Given the description of an element on the screen output the (x, y) to click on. 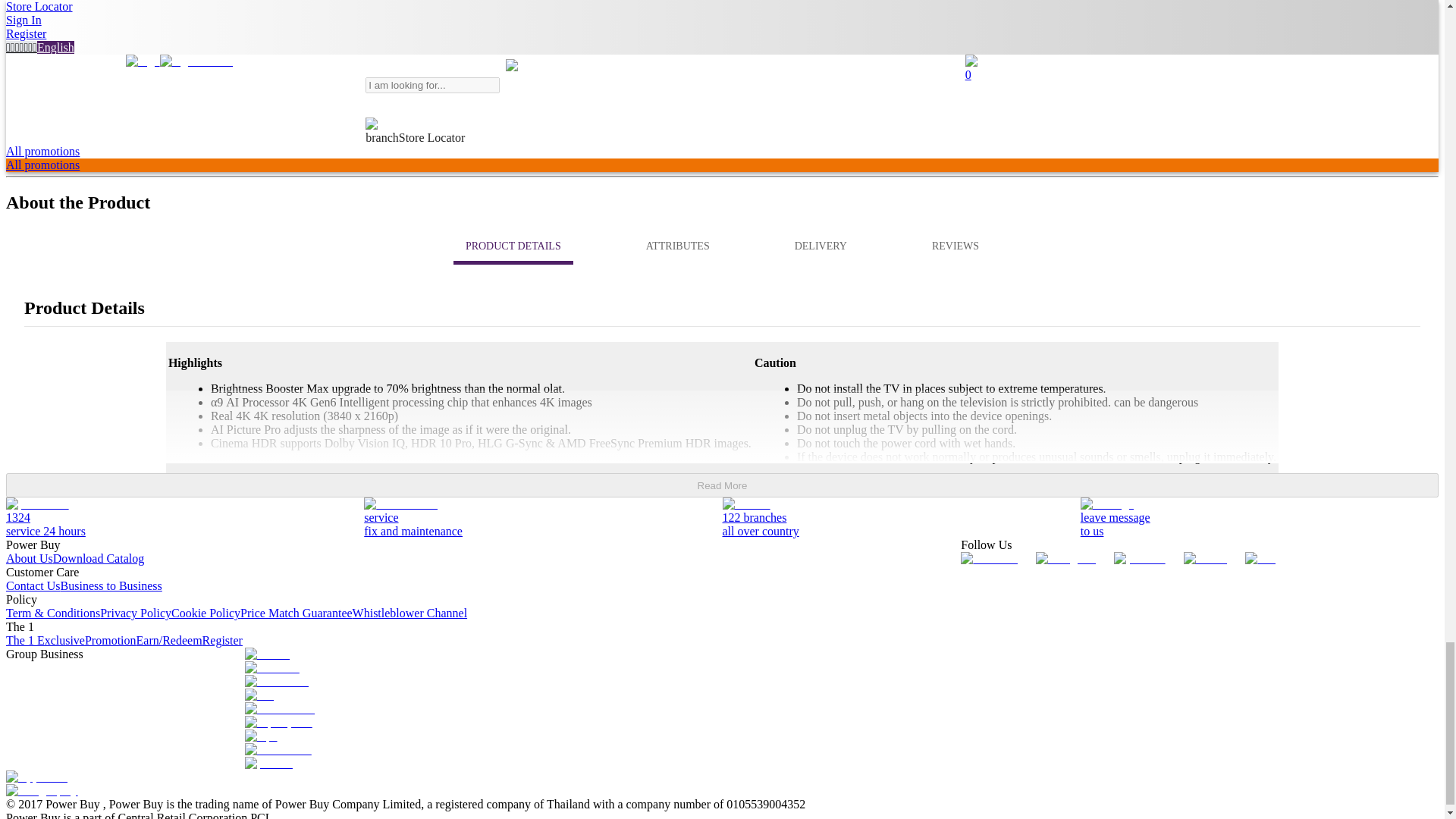
REVIEWS (722, 246)
ATTRIBUTES (955, 246)
DELIVERY (677, 246)
PRODUCT DETAILS (821, 246)
